Given the description of an element on the screen output the (x, y) to click on. 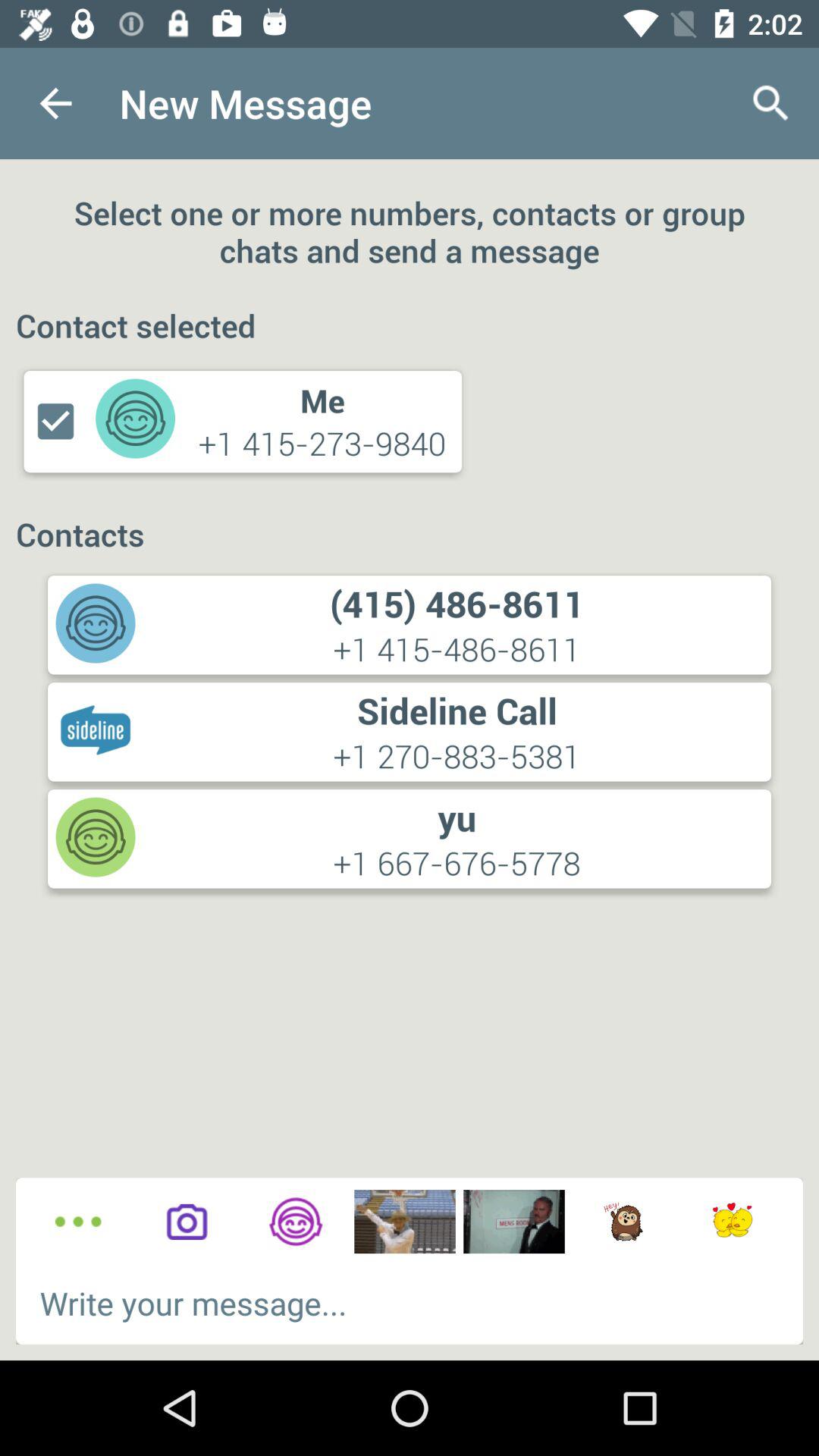
click the icon below 1 667 676 icon (295, 1221)
